Given the description of an element on the screen output the (x, y) to click on. 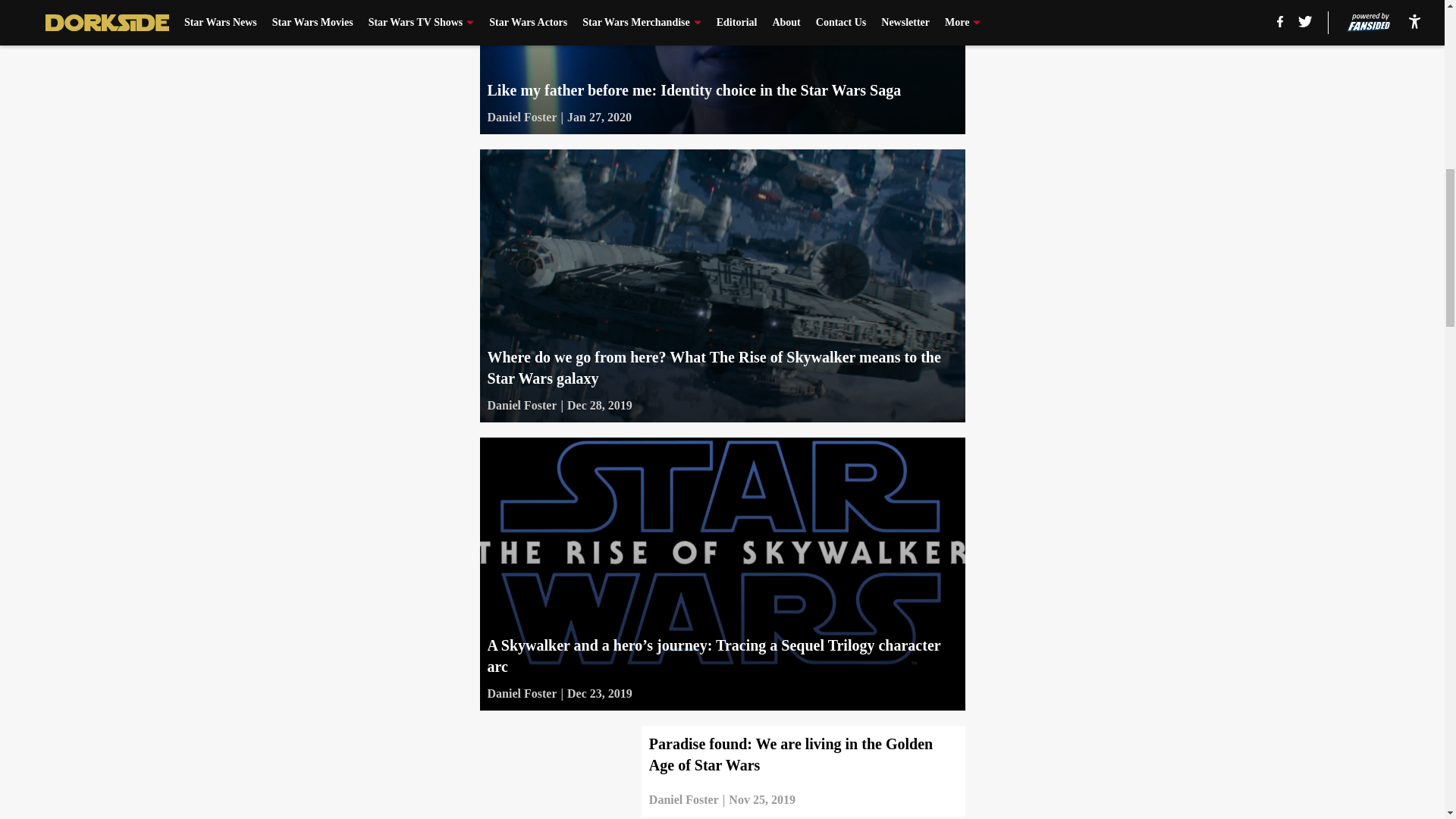
Daniel Foster (521, 405)
Daniel Foster (684, 800)
Daniel Foster (521, 117)
Daniel Foster (521, 693)
Paradise found: We are living in the Golden Age of Star Wars (721, 770)
